Given the description of an element on the screen output the (x, y) to click on. 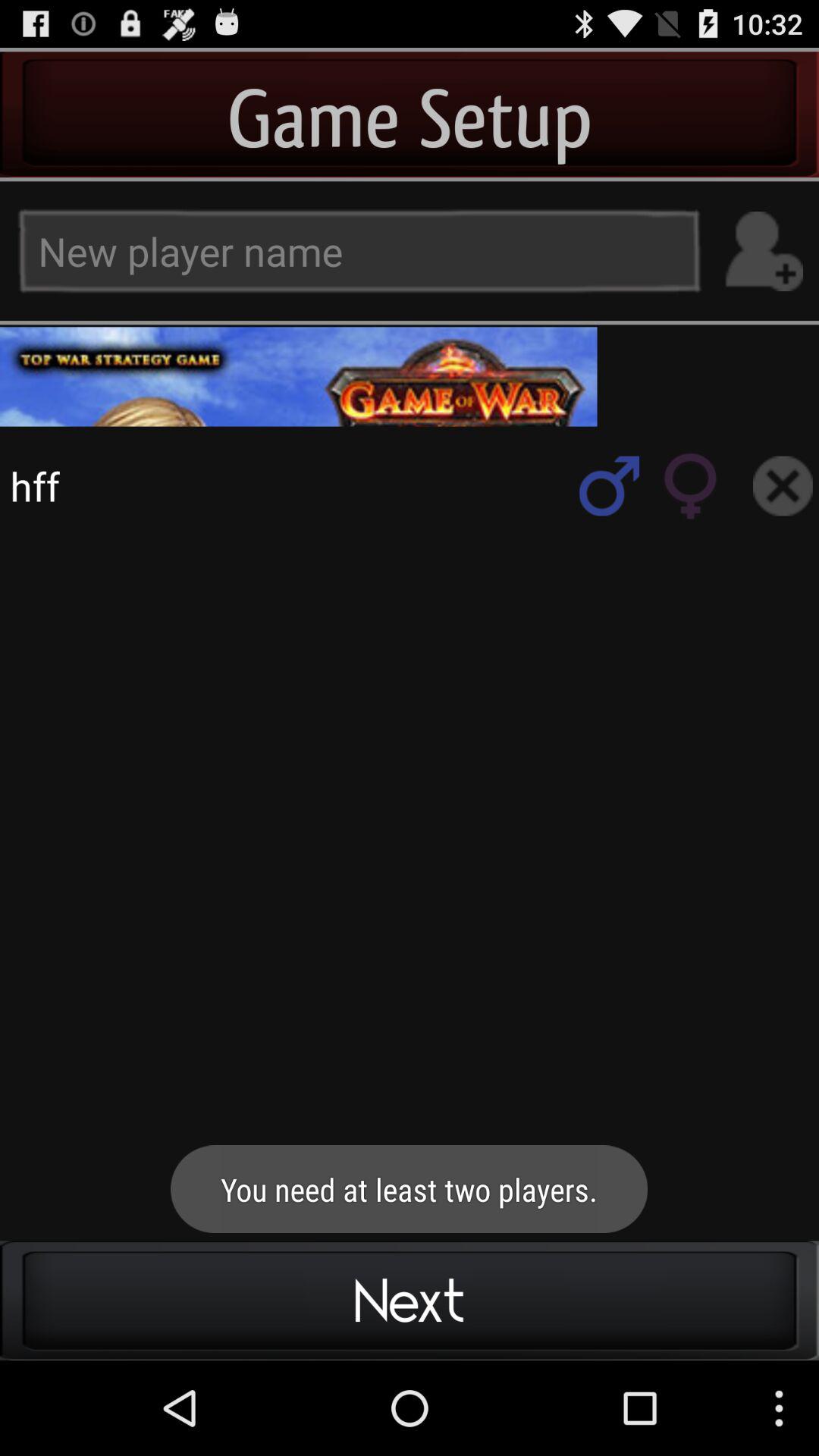
jogo game (782, 485)
